Given the description of an element on the screen output the (x, y) to click on. 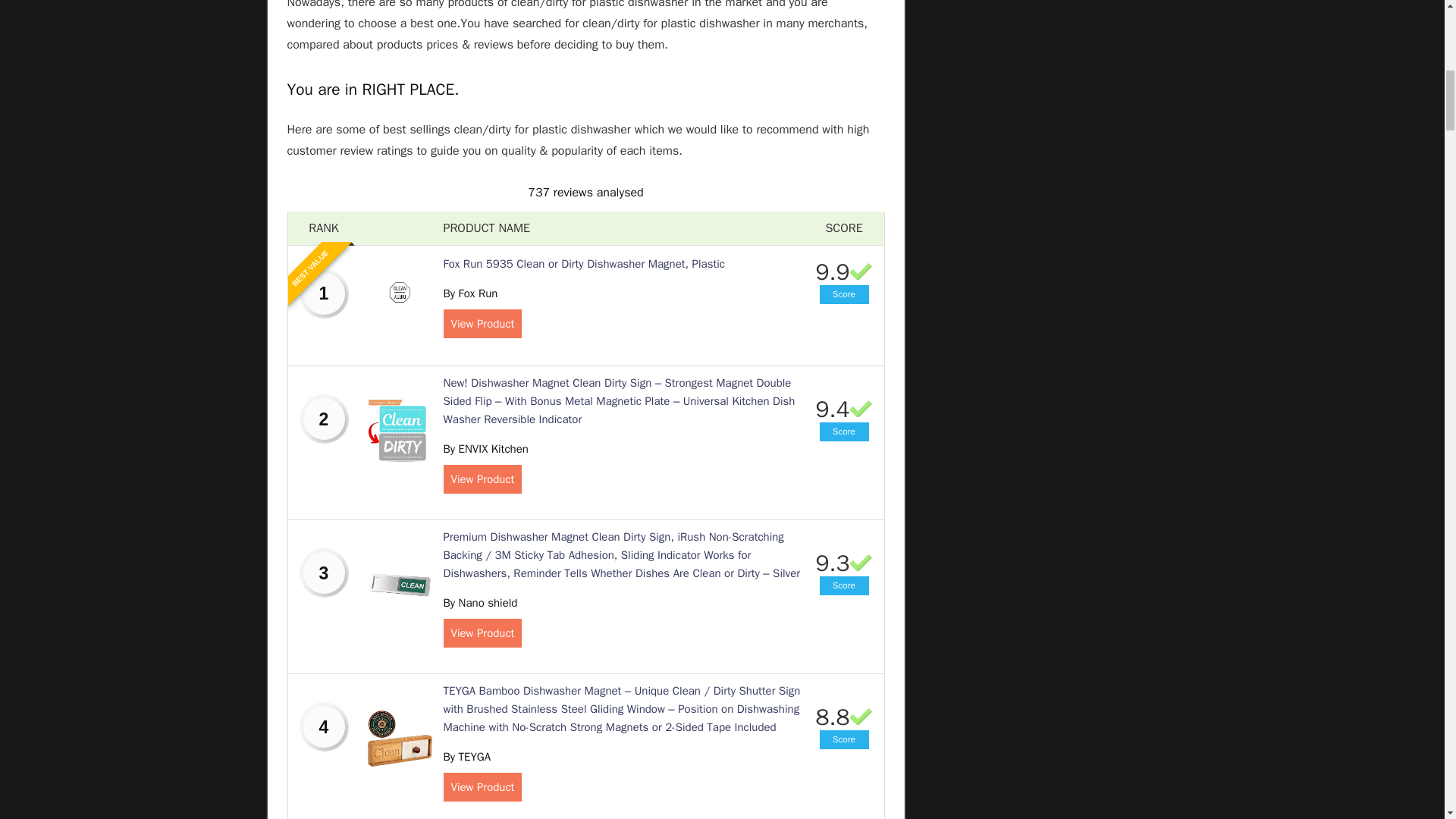
By Nano shield (479, 602)
View Product (481, 323)
By ENVIX Kitchen (484, 448)
View Product (481, 479)
By Fox Run (469, 293)
View Product (481, 787)
By TEYGA (466, 756)
Fox Run 5935 Clean or Dirty Dishwasher Magnet, Plastic (583, 264)
View Product (481, 633)
